Given the description of an element on the screen output the (x, y) to click on. 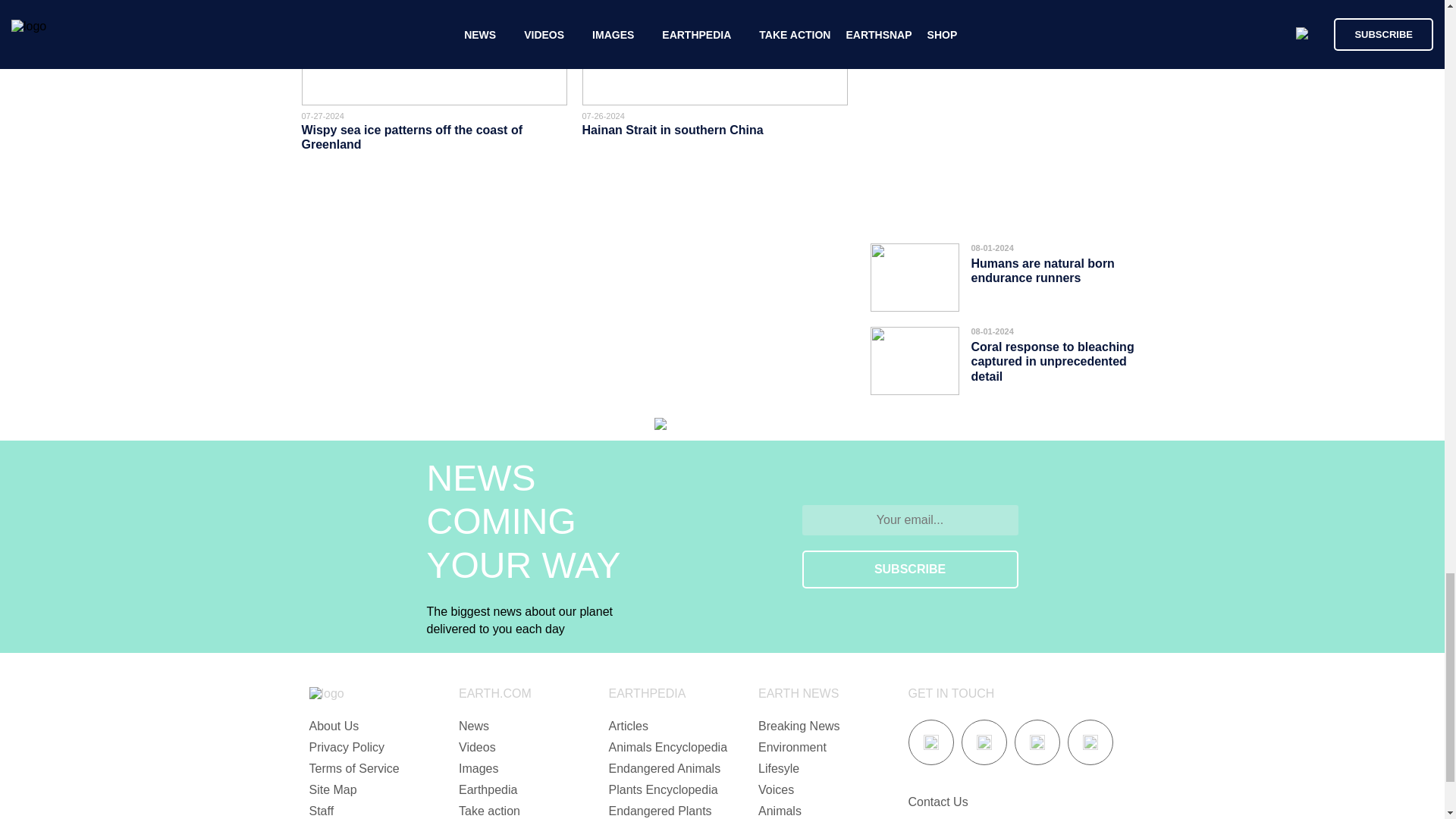
Wispy sea ice patterns off the coast of Greenland (411, 136)
Hainan Strait in southern China (672, 129)
